Given the description of an element on the screen output the (x, y) to click on. 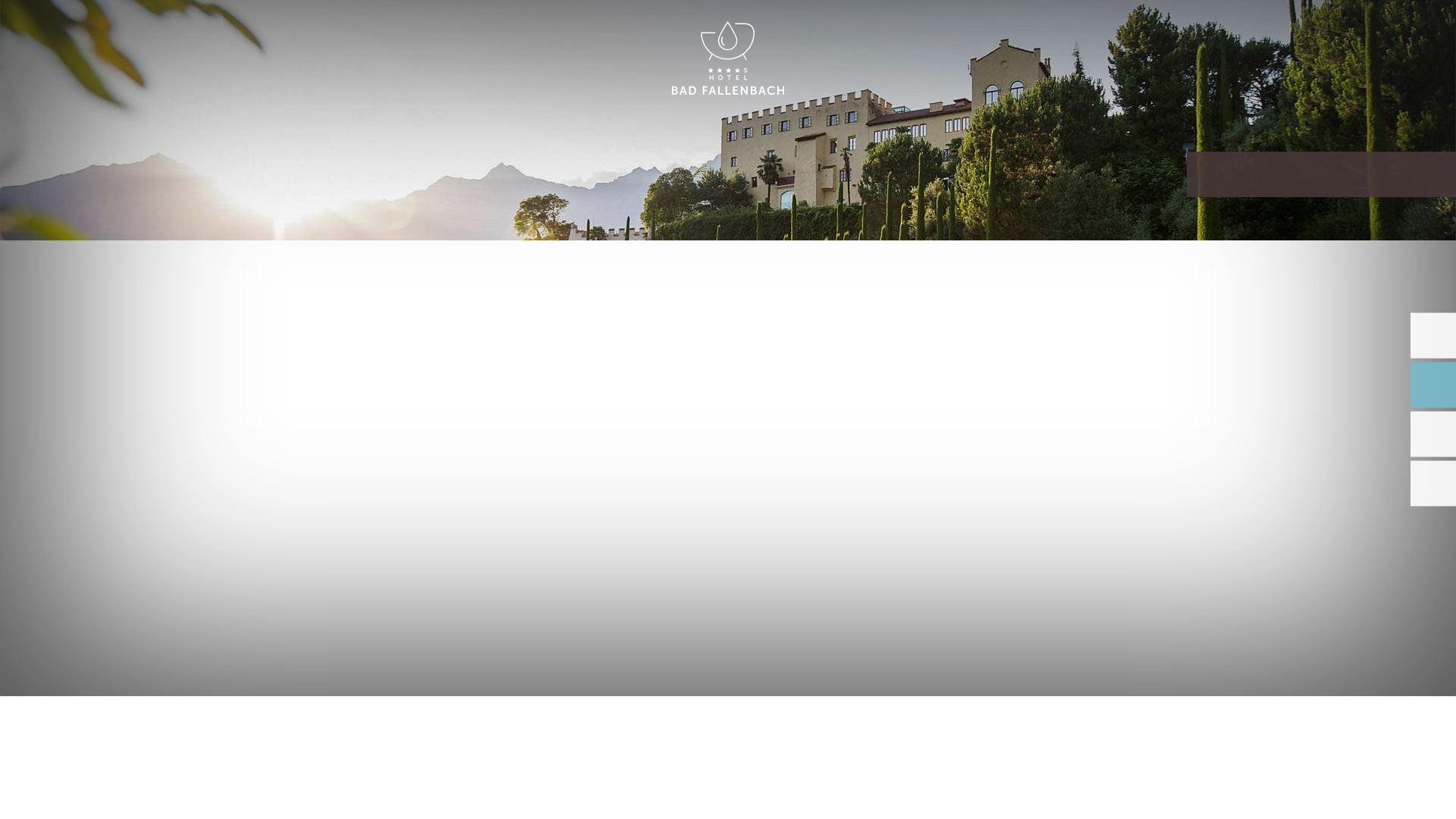
ENGLISH (1291, 29)
HOTEL BAD FALLENBACH (727, 59)
